Given the description of an element on the screen output the (x, y) to click on. 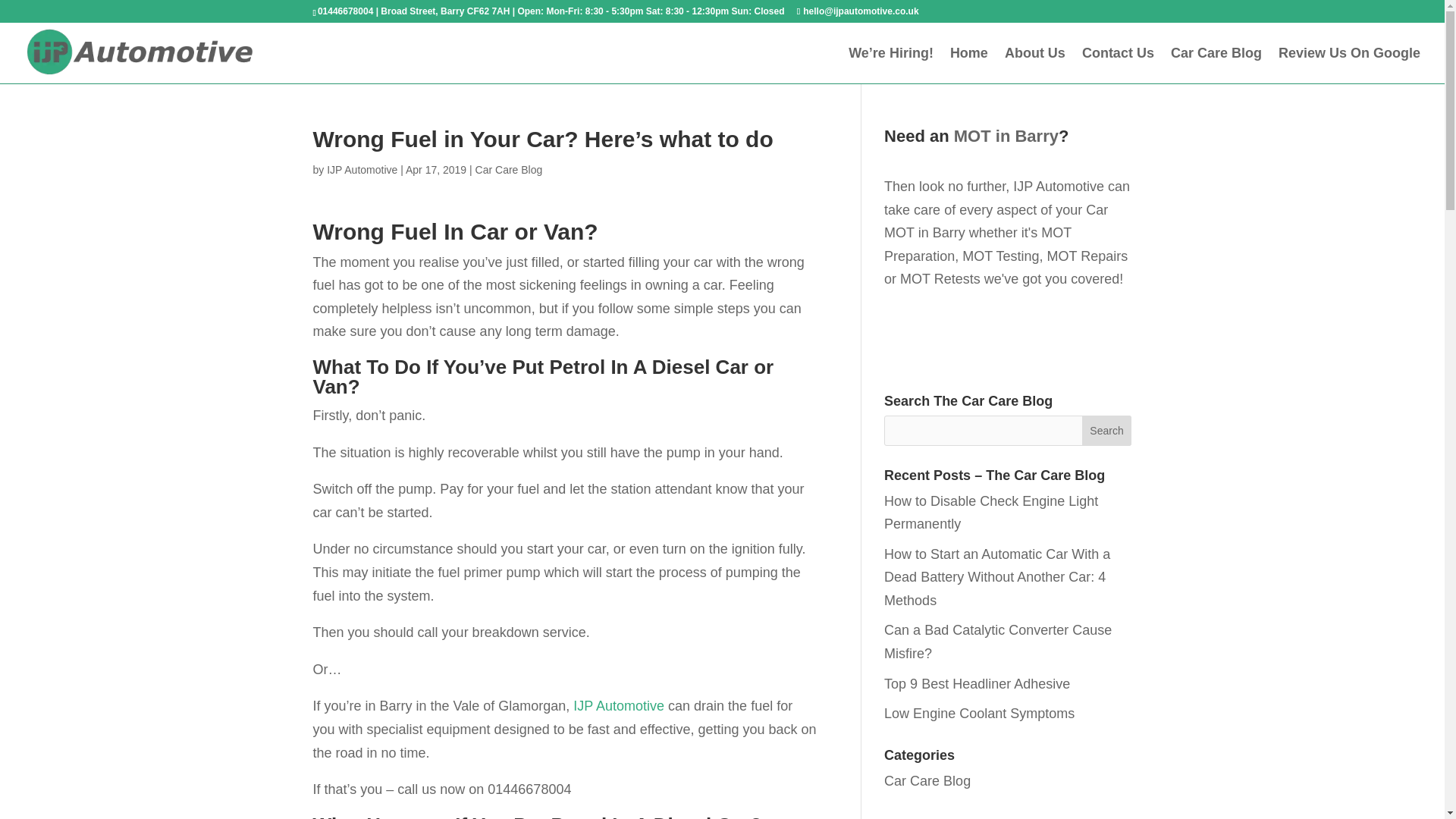
About Us (1034, 65)
Low Engine Coolant Symptoms (978, 713)
MOT Repairs (1087, 255)
MOT in Barry (1005, 135)
Car MOT in Barry (995, 221)
Search (1106, 430)
IJP Automotive (1058, 186)
How to Disable Check Engine Light Permanently (990, 512)
Home (969, 65)
